Given the description of an element on the screen output the (x, y) to click on. 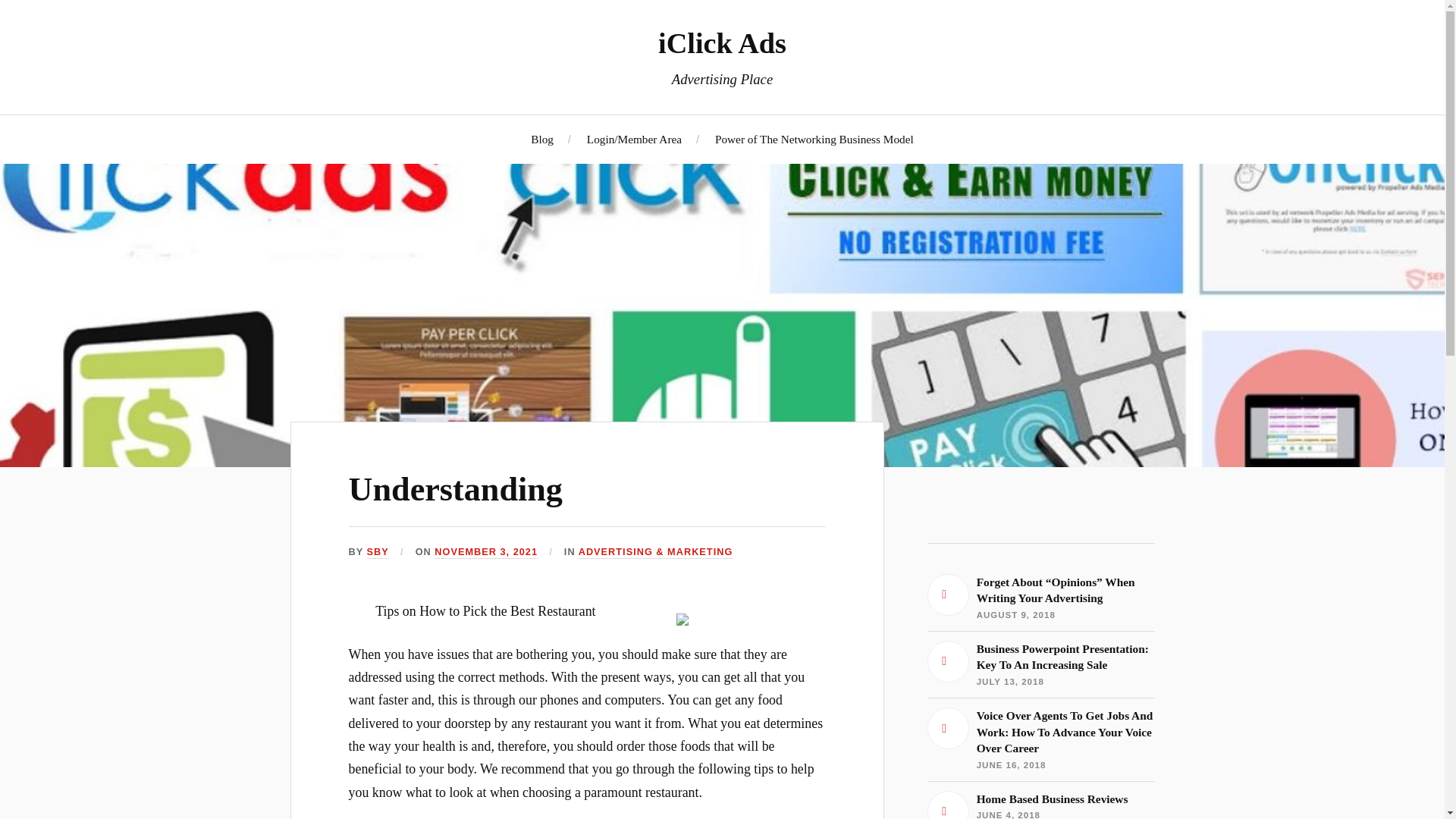
Posts by sby (377, 552)
Power of The Networking Business Model (814, 138)
iClick Ads (722, 42)
Home Based Business Reviews (1040, 805)
SBY (377, 552)
Business Powerpoint Presentation: Key To An Increasing Sale (1040, 805)
Understanding (1040, 664)
NOVEMBER 3, 2021 (455, 488)
